Given the description of an element on the screen output the (x, y) to click on. 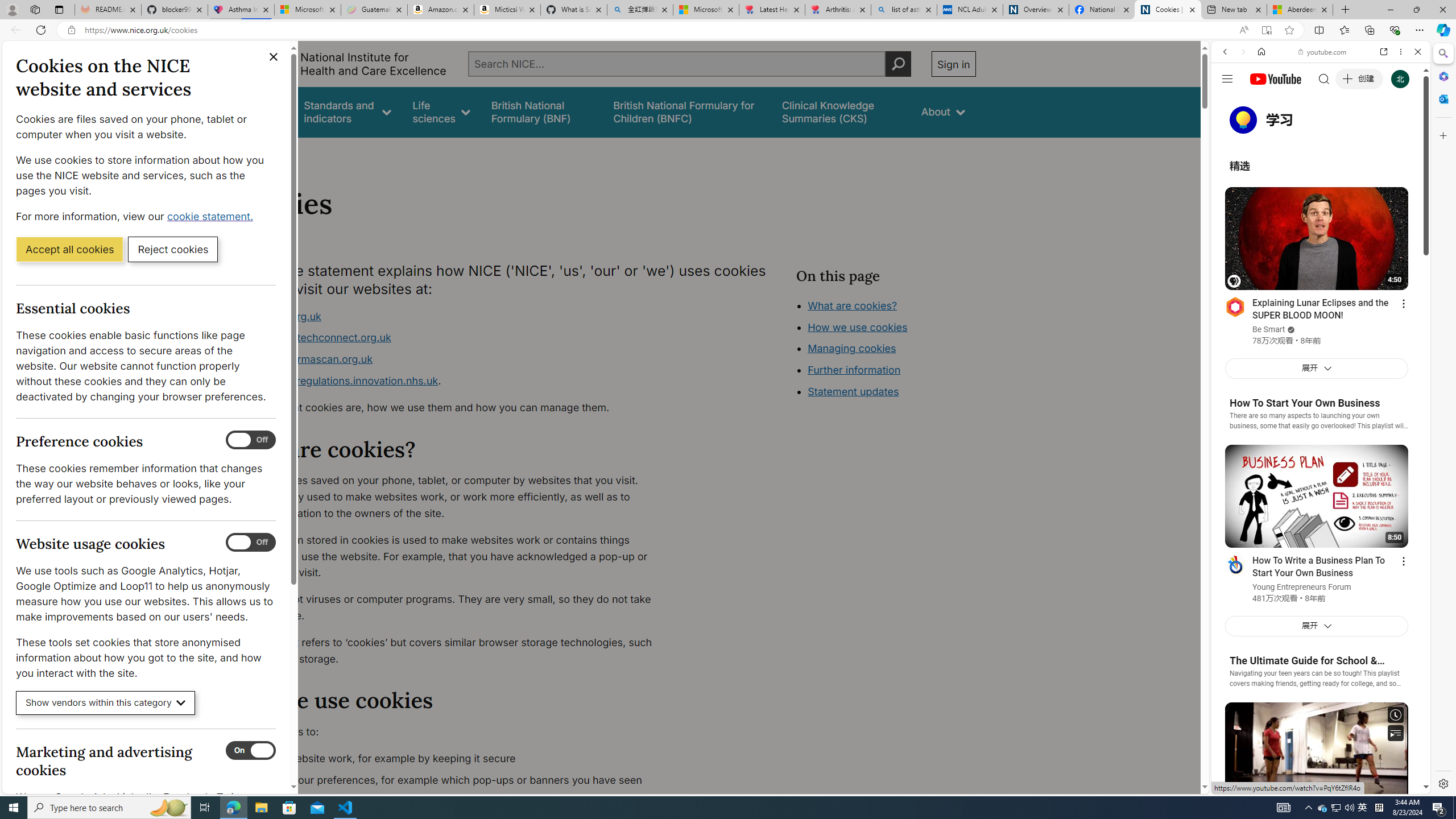
Show More Music (1390, 310)
Managing cookies (852, 348)
youtube.com (1322, 51)
Website usage cookies (250, 542)
Class: in-page-nav__list (884, 349)
Show vendors within this category (105, 703)
